Given the description of an element on the screen output the (x, y) to click on. 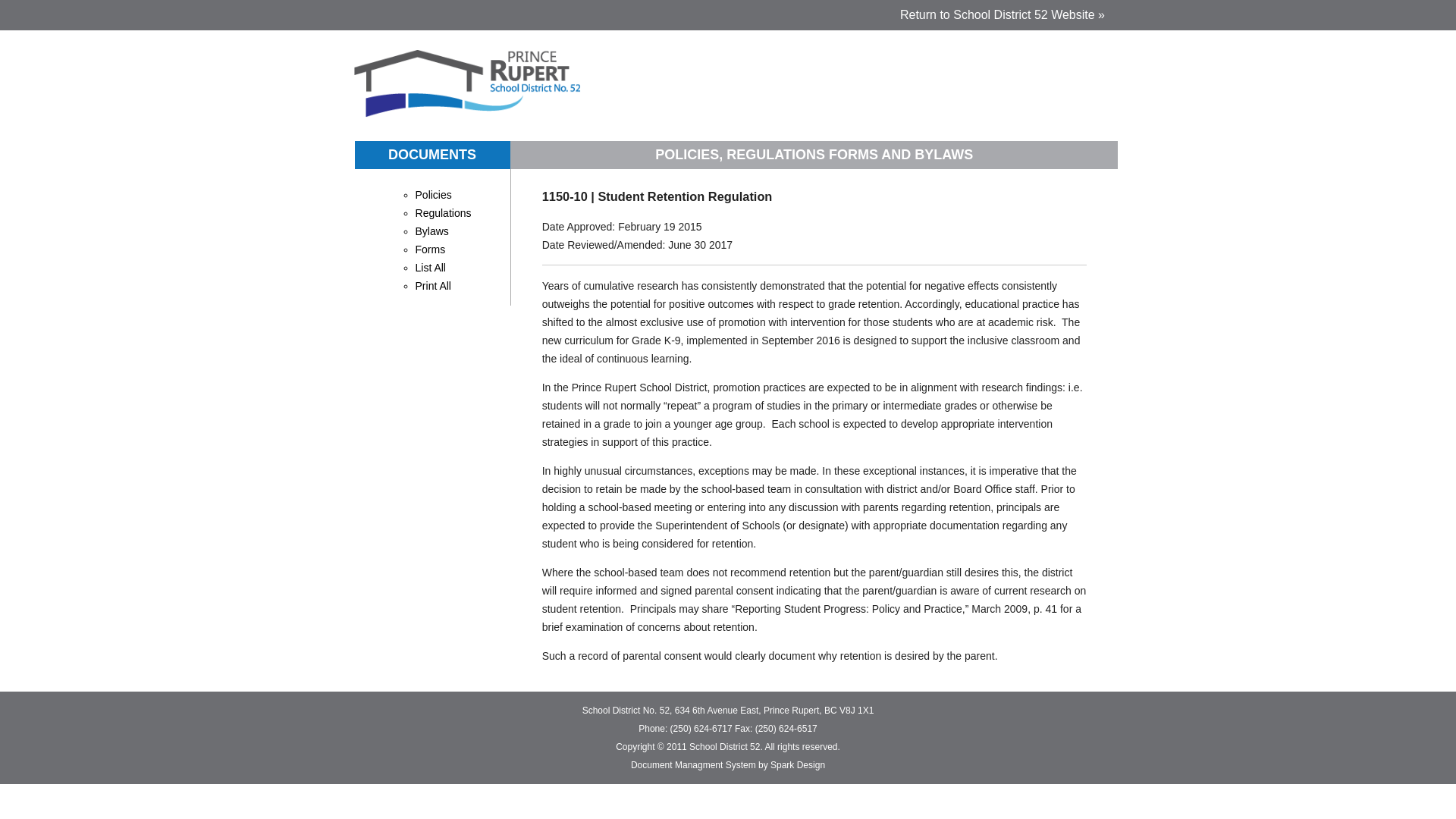
Forms (429, 249)
Document Managment System by Spark Design (727, 765)
List All (429, 267)
Policies (432, 194)
Regulations (442, 213)
Print All (432, 285)
Bylaws (431, 231)
